Given the description of an element on the screen output the (x, y) to click on. 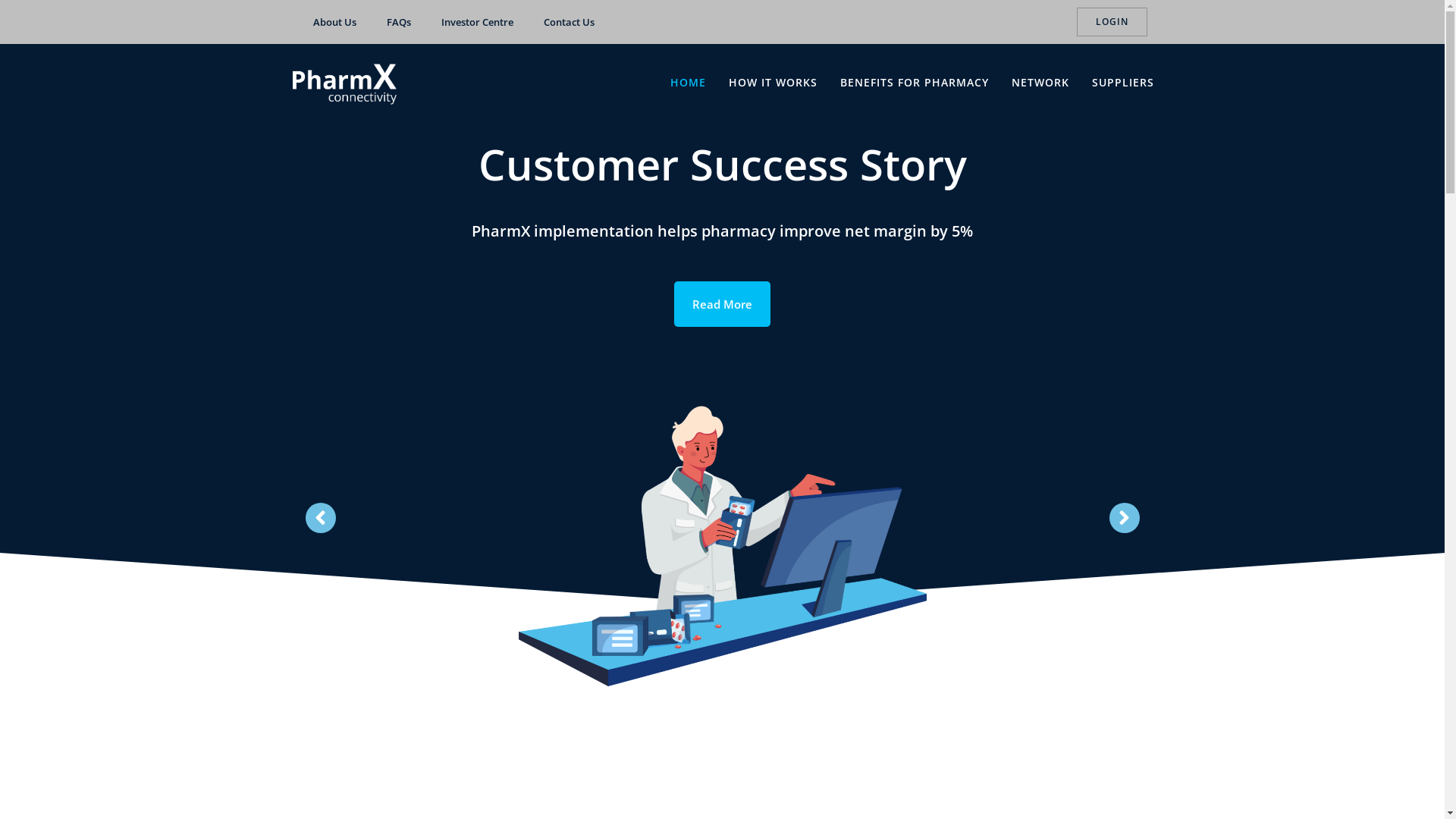
HOME Element type: text (688, 81)
FAQs Element type: text (398, 21)
Investor Centre Element type: text (477, 21)
Contact Us Element type: text (567, 21)
SUPPLIERS Element type: text (1123, 81)
LOGIN Element type: text (1111, 21)
HOW IT WORKS Element type: text (772, 81)
About Us Element type: text (333, 21)
NETWORK Element type: text (1040, 81)
BENEFITS FOR PHARMACY Element type: text (914, 81)
Read More Element type: text (722, 303)
